Given the description of an element on the screen output the (x, y) to click on. 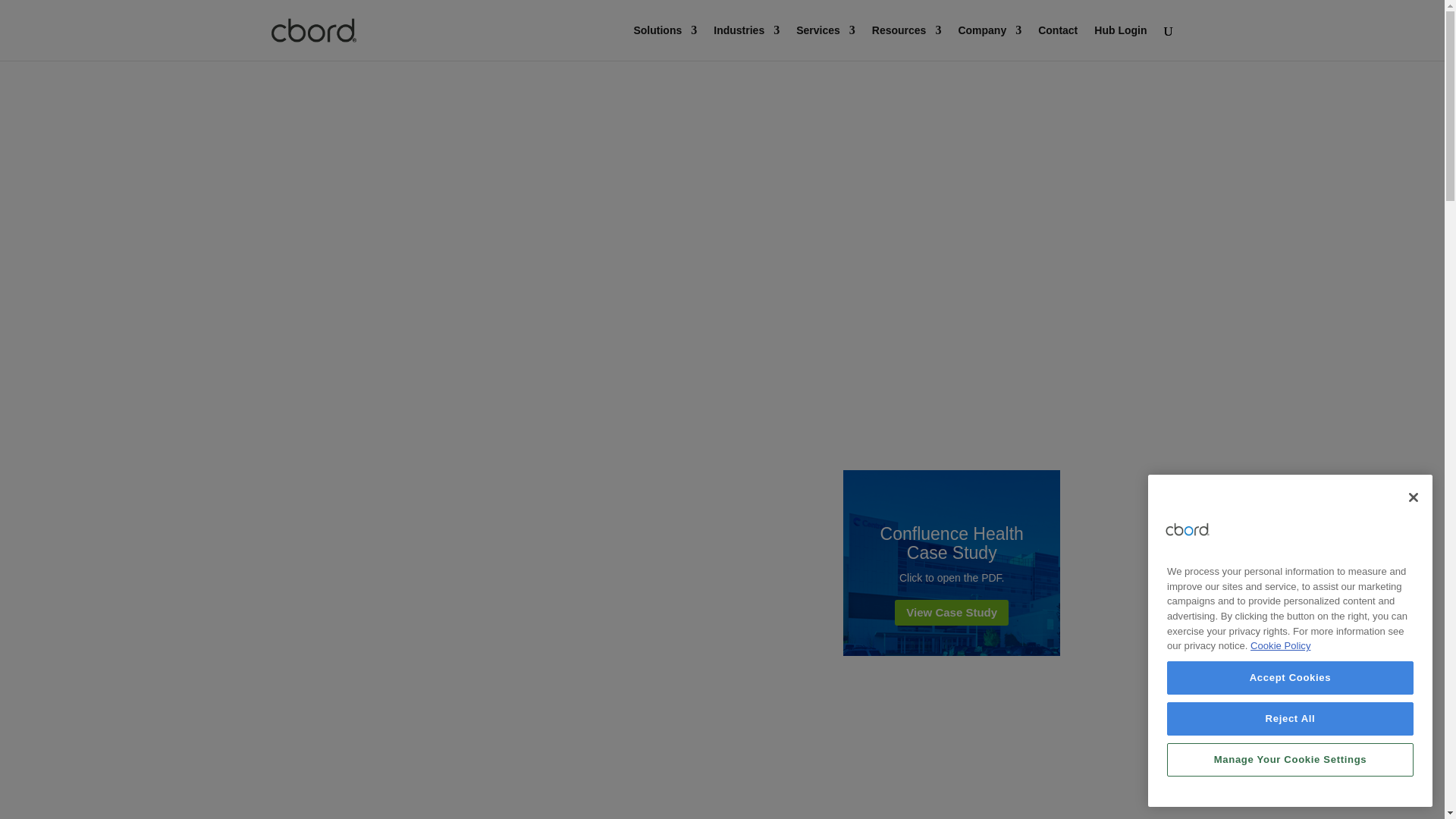
Company Logo (1187, 529)
Resources (907, 42)
Solutions (665, 42)
Services (826, 42)
Industries (745, 42)
